Given the description of an element on the screen output the (x, y) to click on. 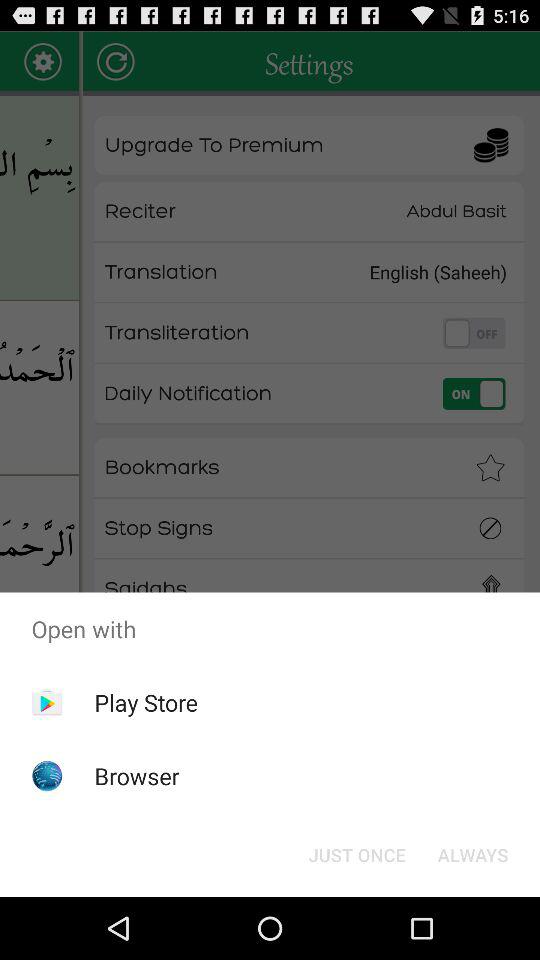
click play store item (146, 702)
